Given the description of an element on the screen output the (x, y) to click on. 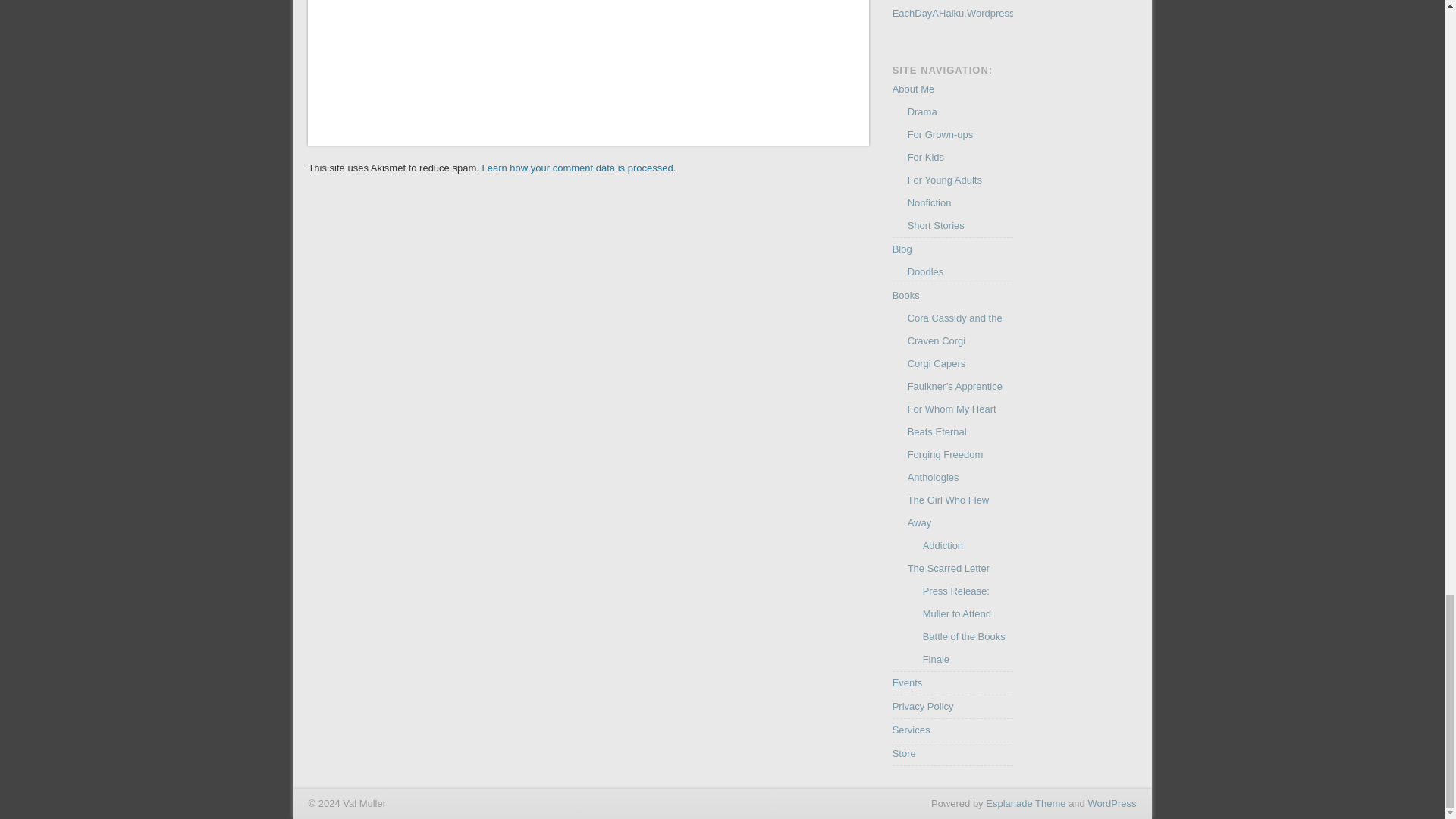
Comment Form (588, 62)
Learn how your comment data is processed (576, 167)
